Given the description of an element on the screen output the (x, y) to click on. 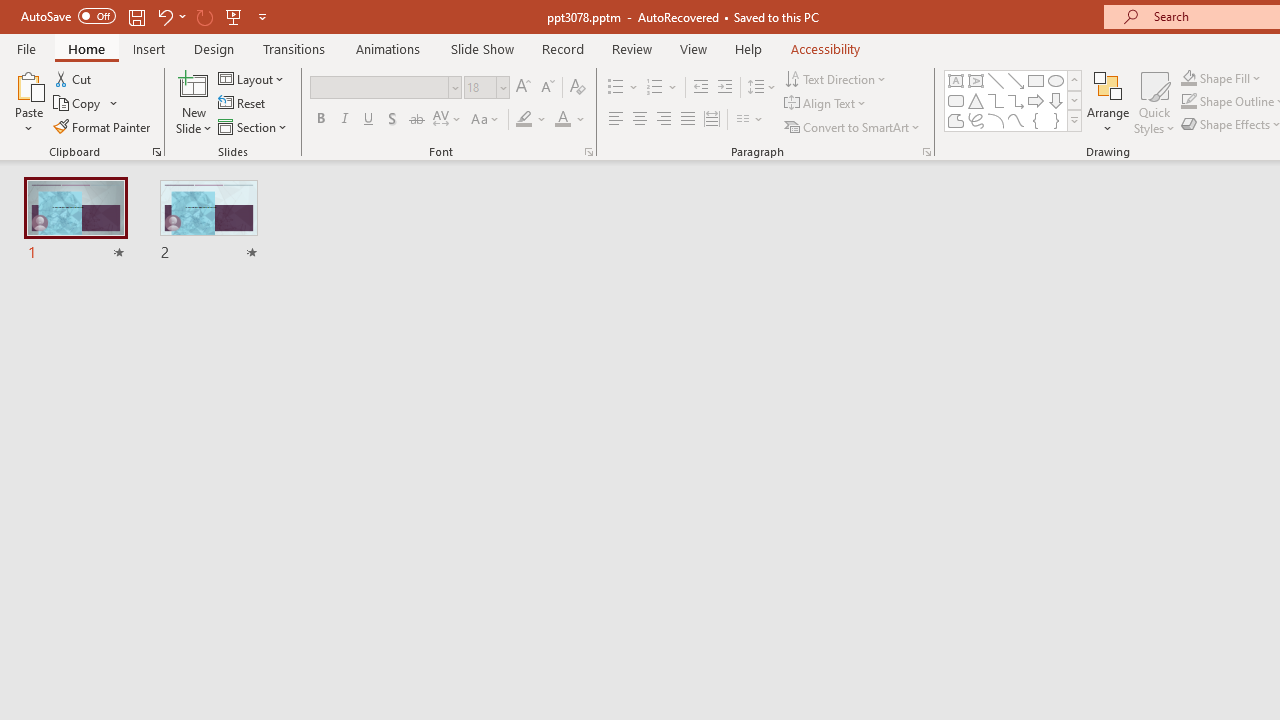
Office Clipboard... (156, 151)
Text Highlight Color Yellow (524, 119)
Connector: Elbow Arrow (1016, 100)
Decrease Font Size (547, 87)
Strikethrough (416, 119)
Underline (369, 119)
